Given the description of an element on the screen output the (x, y) to click on. 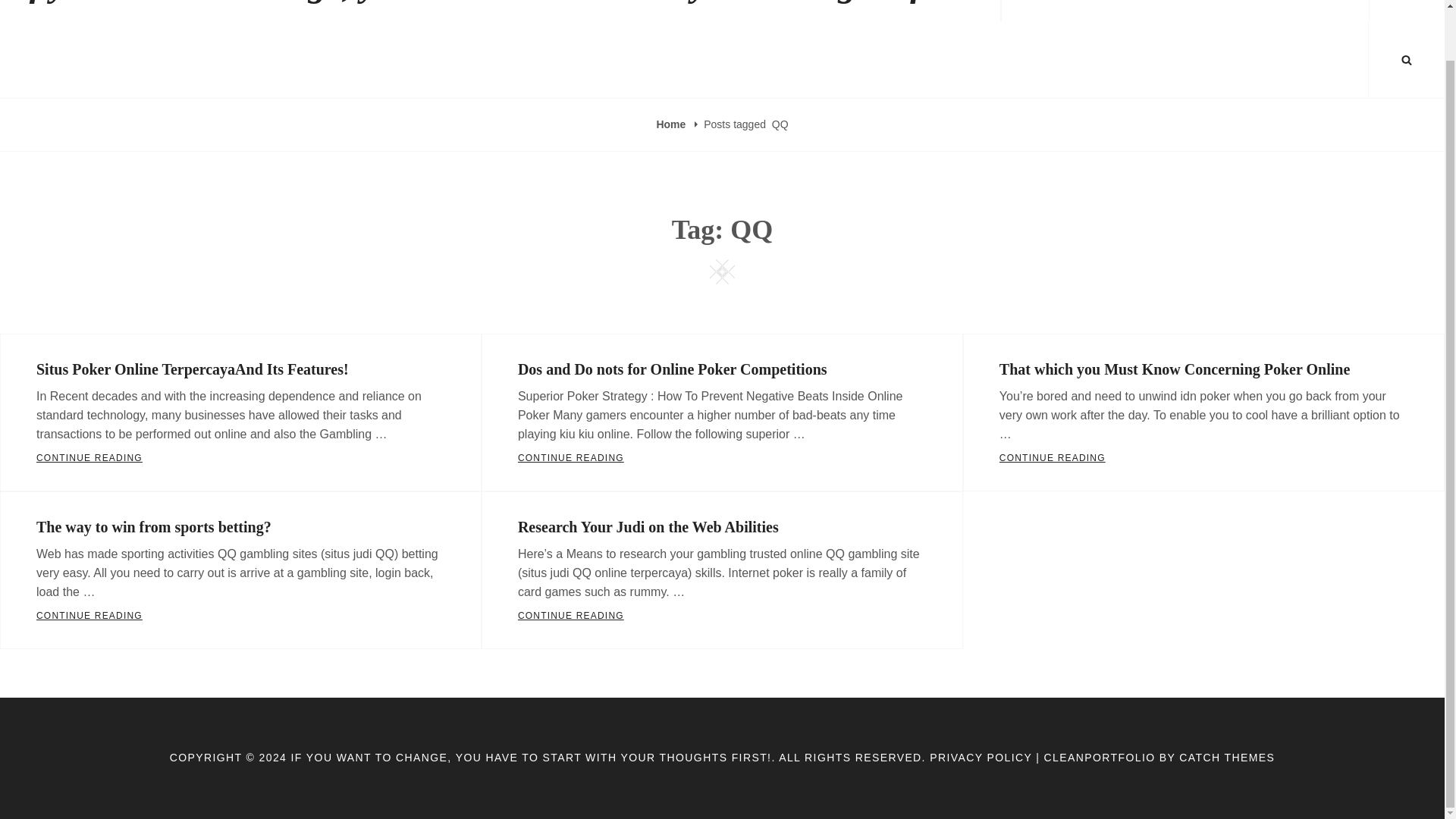
Dos and Do nots for Online Poker Competitions (722, 615)
Research Your Judi on the Web Abilities (672, 369)
General (648, 526)
SEARCH (1337, 11)
Home (1407, 59)
Games (672, 123)
Privacy Policy (1275, 11)
